Given the description of an element on the screen output the (x, y) to click on. 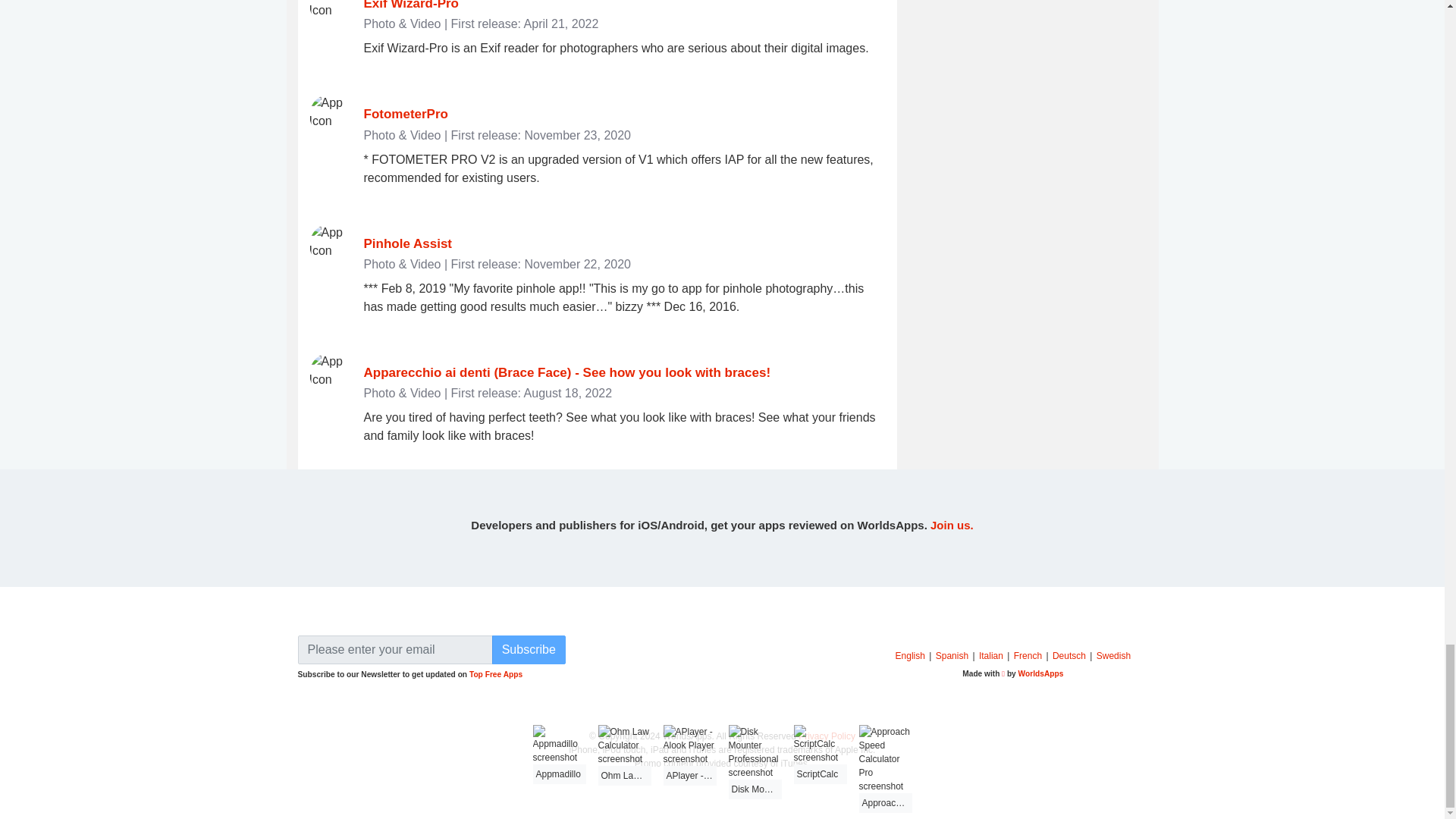
Pinhole Assist (408, 243)
FotometerPro (406, 114)
Exif Wizard-Pro (411, 5)
